Given the description of an element on the screen output the (x, y) to click on. 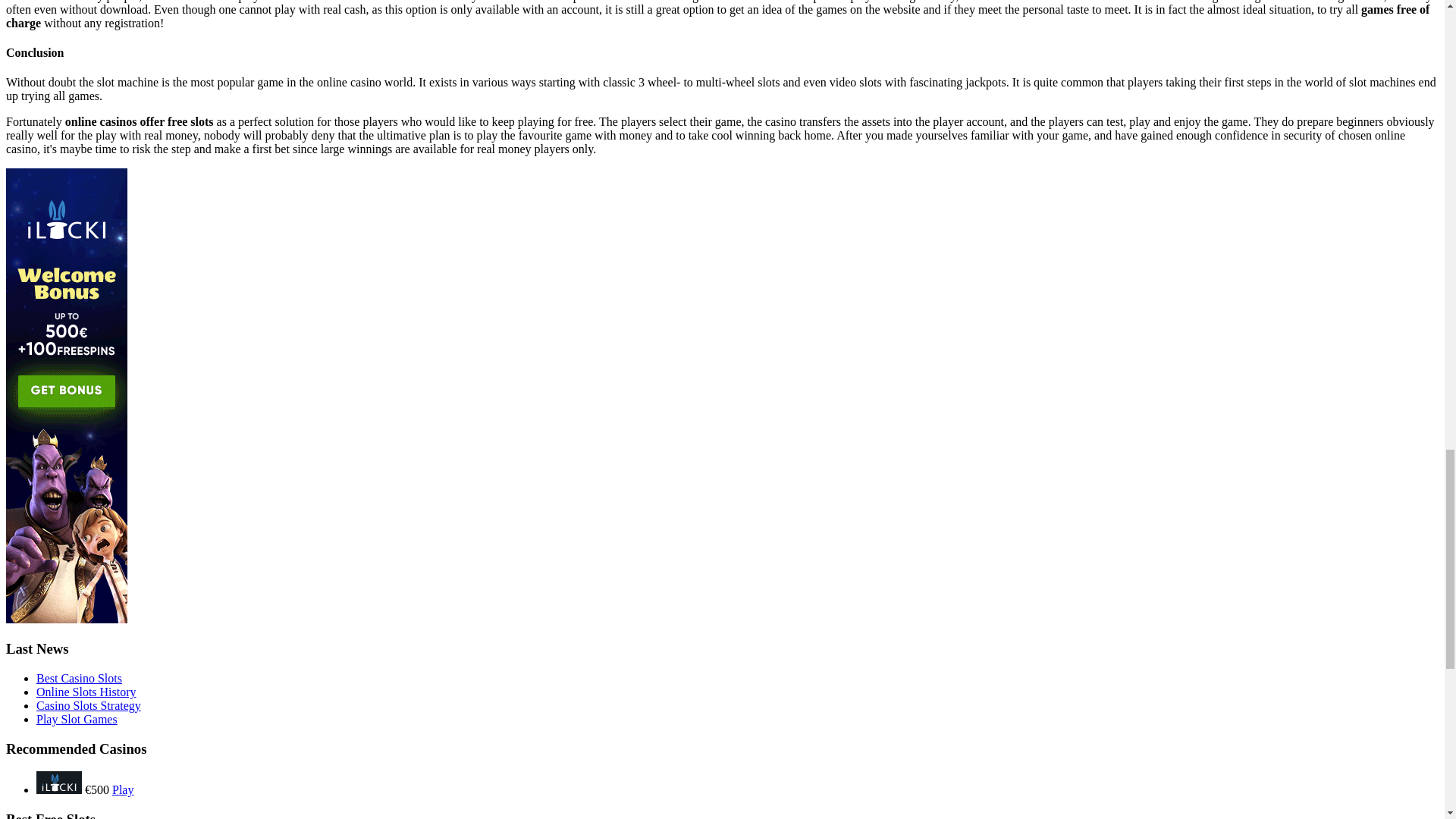
Online Slots History (86, 691)
Casino Slots Strategy (88, 705)
Play Slot Games (76, 718)
Best Casino Slots (79, 677)
